Given the description of an element on the screen output the (x, y) to click on. 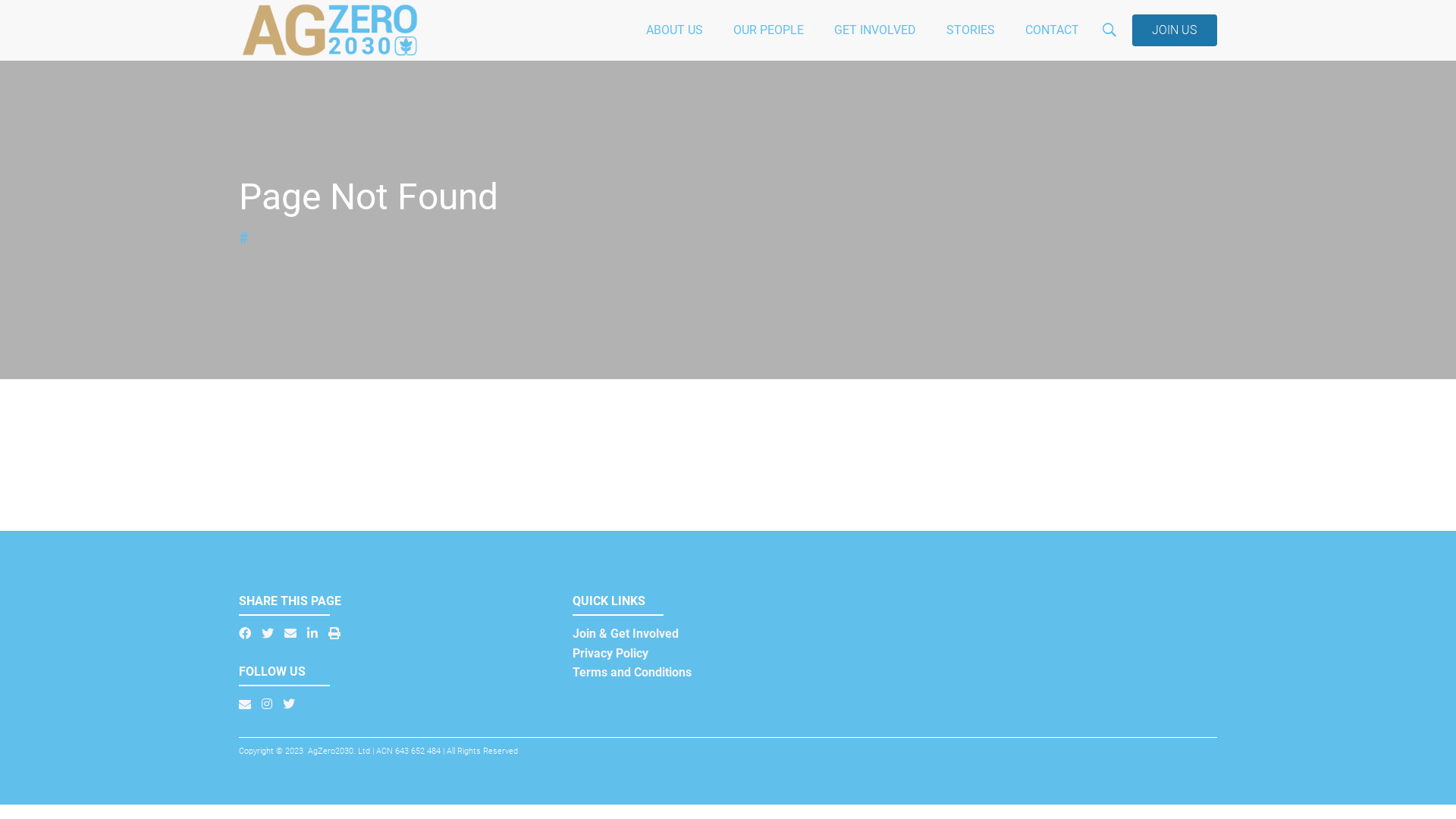
Twitter Element type: hover (267, 633)
OUR PEOPLE Element type: text (768, 30)
JOIN US Element type: text (1174, 30)
Twitter Element type: hover (288, 703)
Join & Get Involved Element type: text (625, 633)
STORIES Element type: text (970, 30)
ABOUT US Element type: text (674, 30)
Search Element type: text (1183, 99)
CONTACT Element type: text (1052, 30)
Privacy Policy
Terms and Conditions Element type: text (631, 663)
Facebook Element type: hover (244, 633)
Email Element type: hover (244, 703)
LinkedIn Element type: hover (312, 633)
Print Element type: hover (334, 633)
Instagram Element type: hover (266, 703)
GET INVOLVED Element type: text (875, 30)
Email Element type: hover (290, 633)
